Given the description of an element on the screen output the (x, y) to click on. 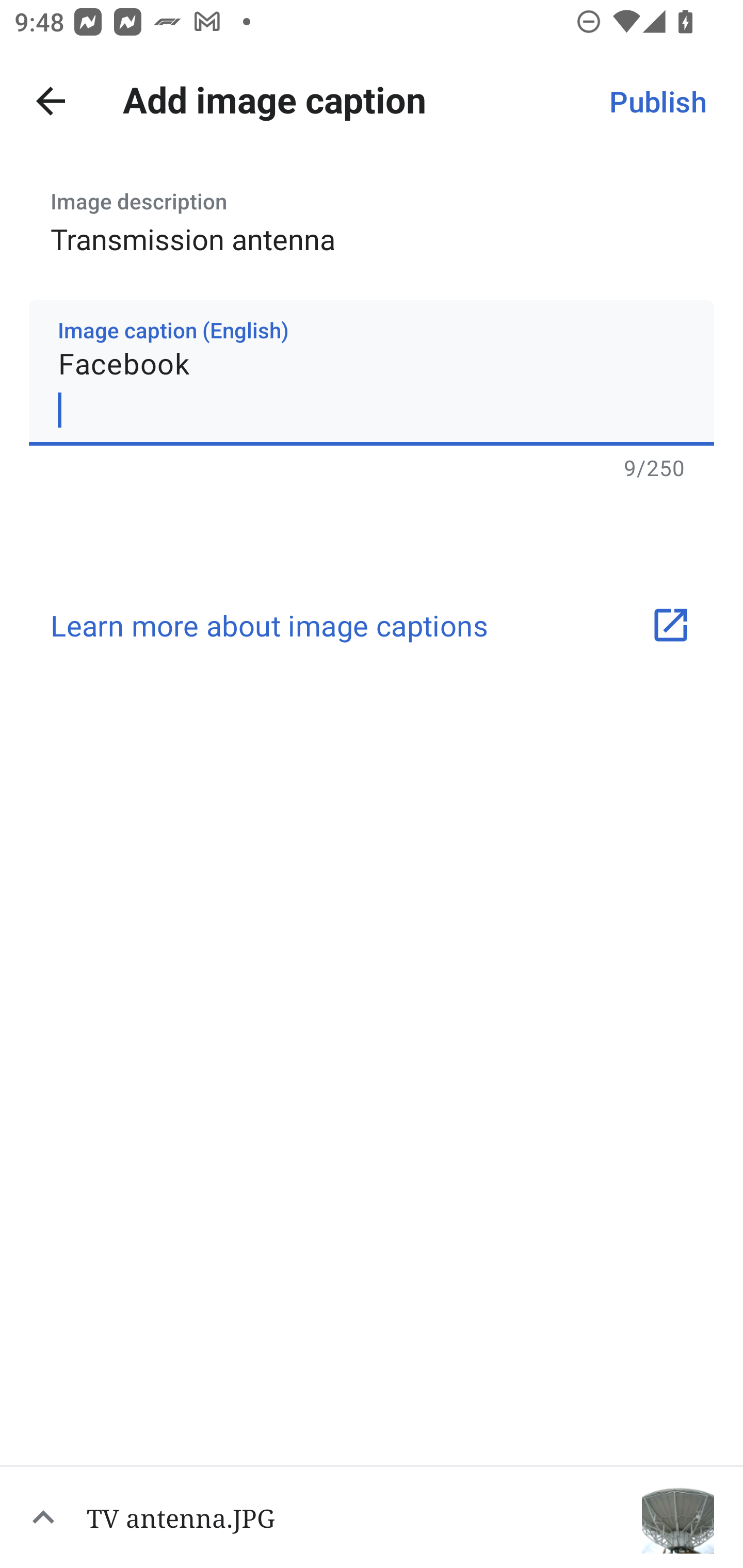
Cancel (50, 101)
Publish (657, 101)
Image description Transmission antenna (371, 215)
Facebook
 (371, 372)
Learn more about image captions (371, 624)
TV antenna.JPG (371, 1516)
